Given the description of an element on the screen output the (x, y) to click on. 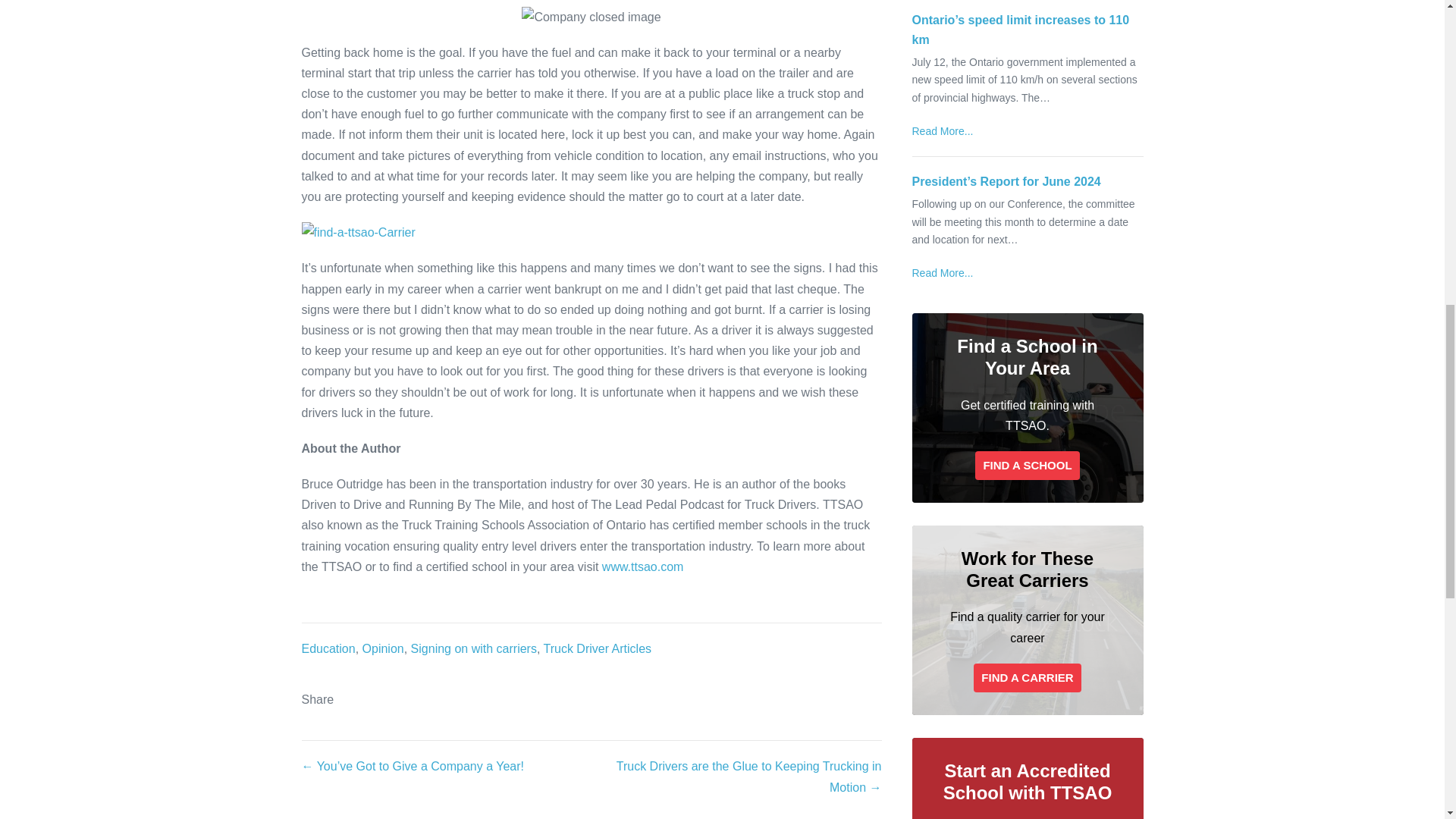
Read More... (941, 272)
Read More... (941, 131)
Opinion (383, 648)
Education (328, 648)
Signing on with carriers (473, 648)
Read More... (941, 131)
Read More... (941, 272)
Truck Driver Articles (597, 648)
www.ttsao.com (643, 566)
